Given the description of an element on the screen output the (x, y) to click on. 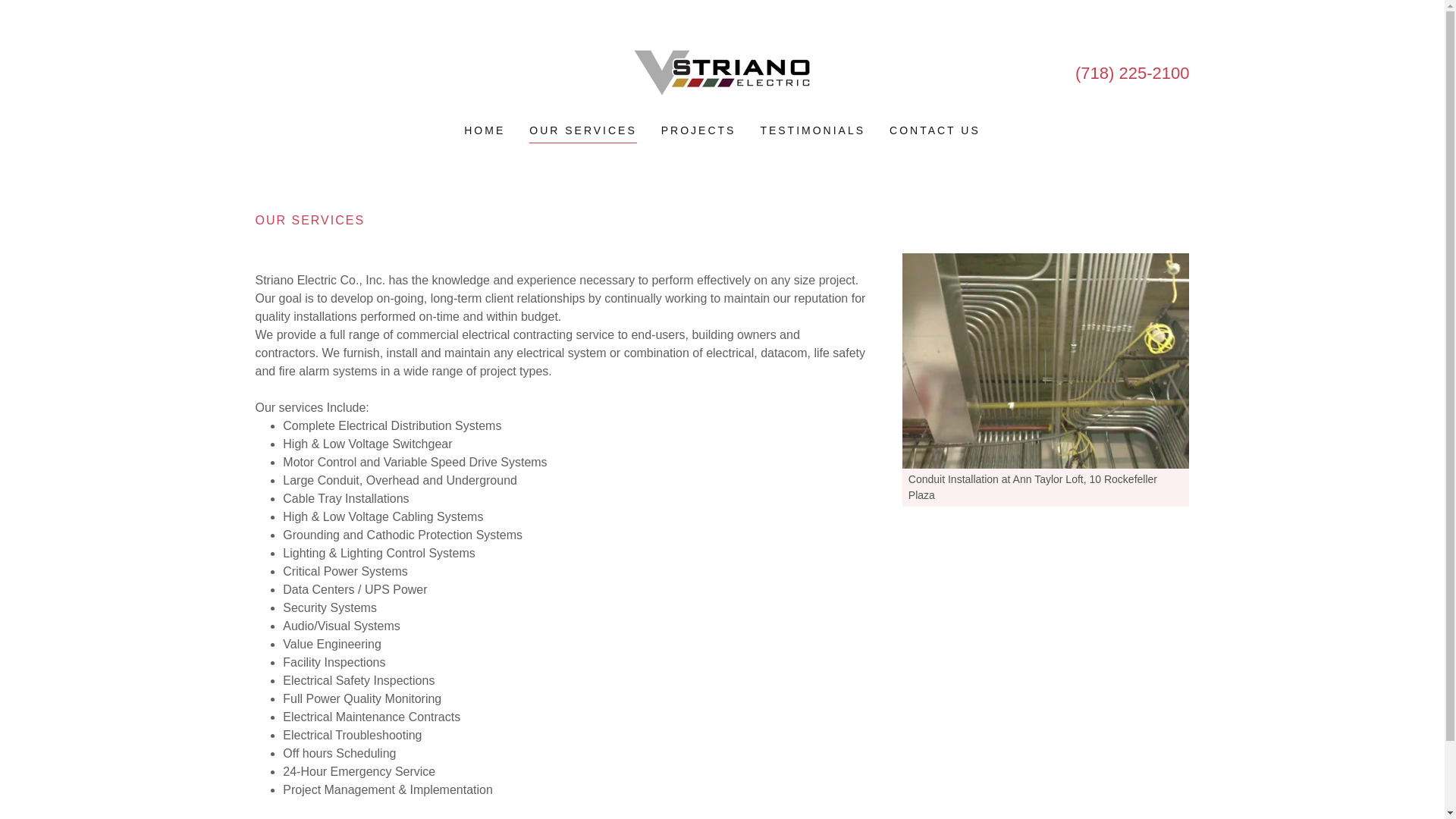
OUR SERVICES (583, 132)
PROJECTS (698, 130)
HOME (484, 130)
TESTIMONIALS (812, 130)
Striano Electric Co., Inc. (721, 71)
CONTACT US (935, 130)
